Given the description of an element on the screen output the (x, y) to click on. 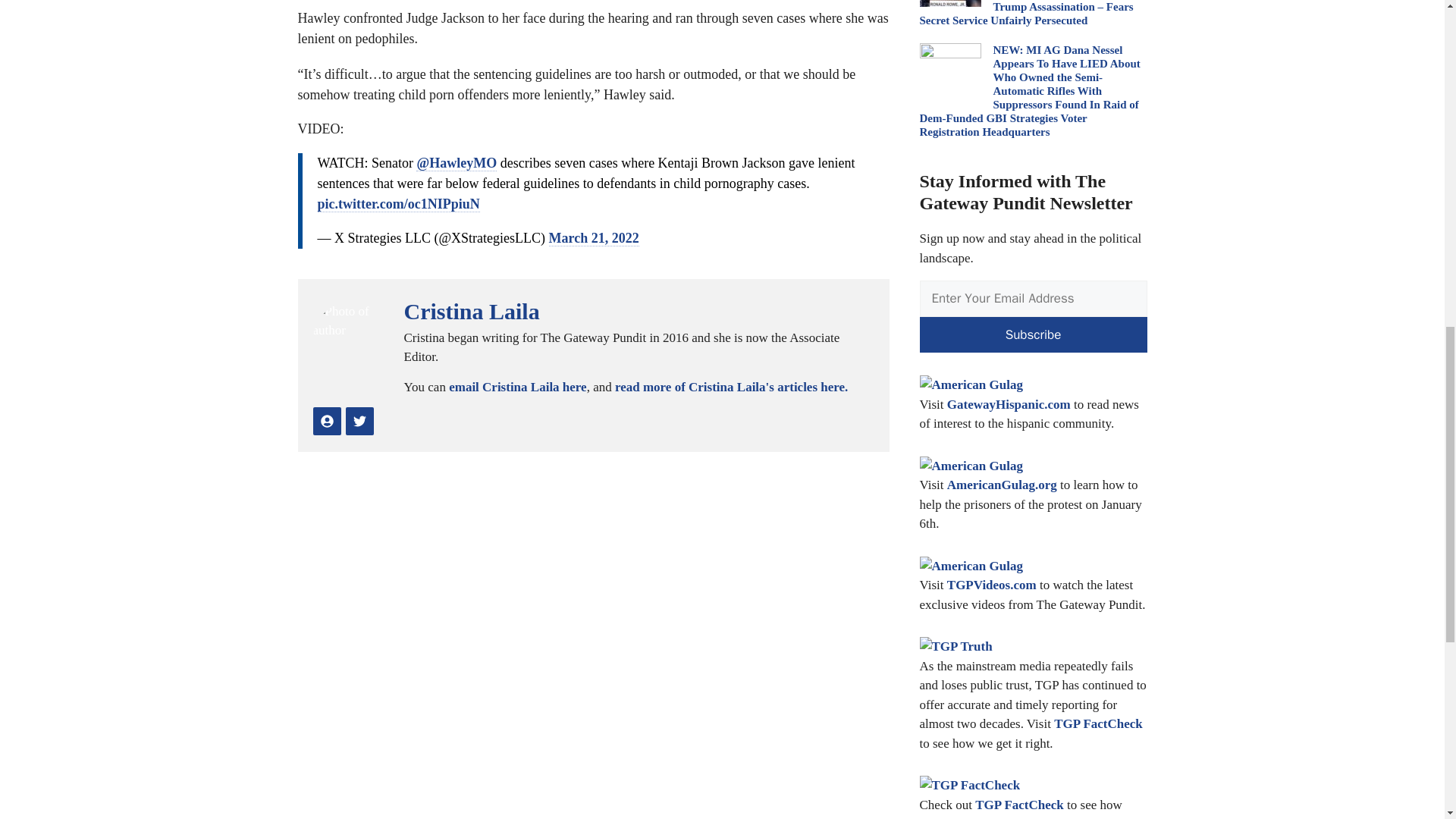
Subscribe (1032, 334)
